Given the description of an element on the screen output the (x, y) to click on. 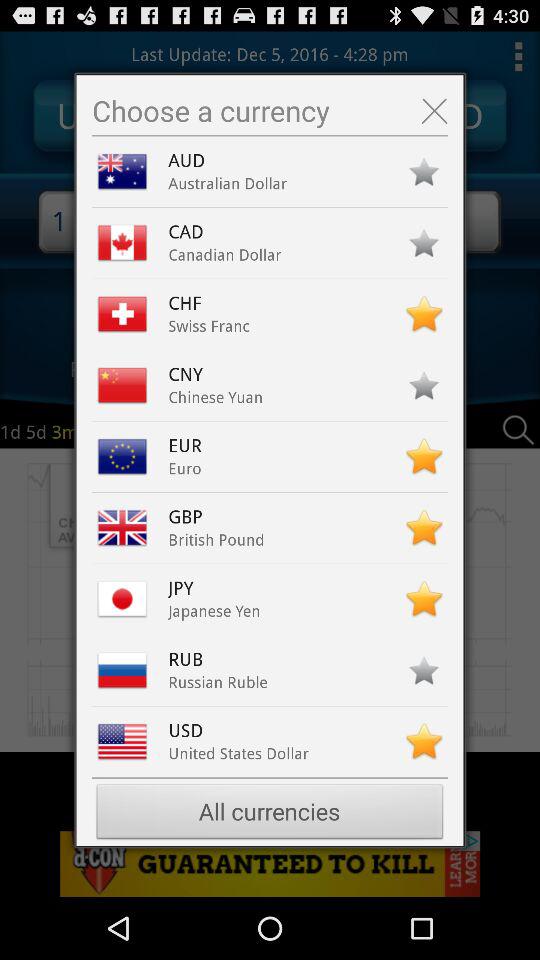
launch the aud icon (189, 160)
